Given the description of an element on the screen output the (x, y) to click on. 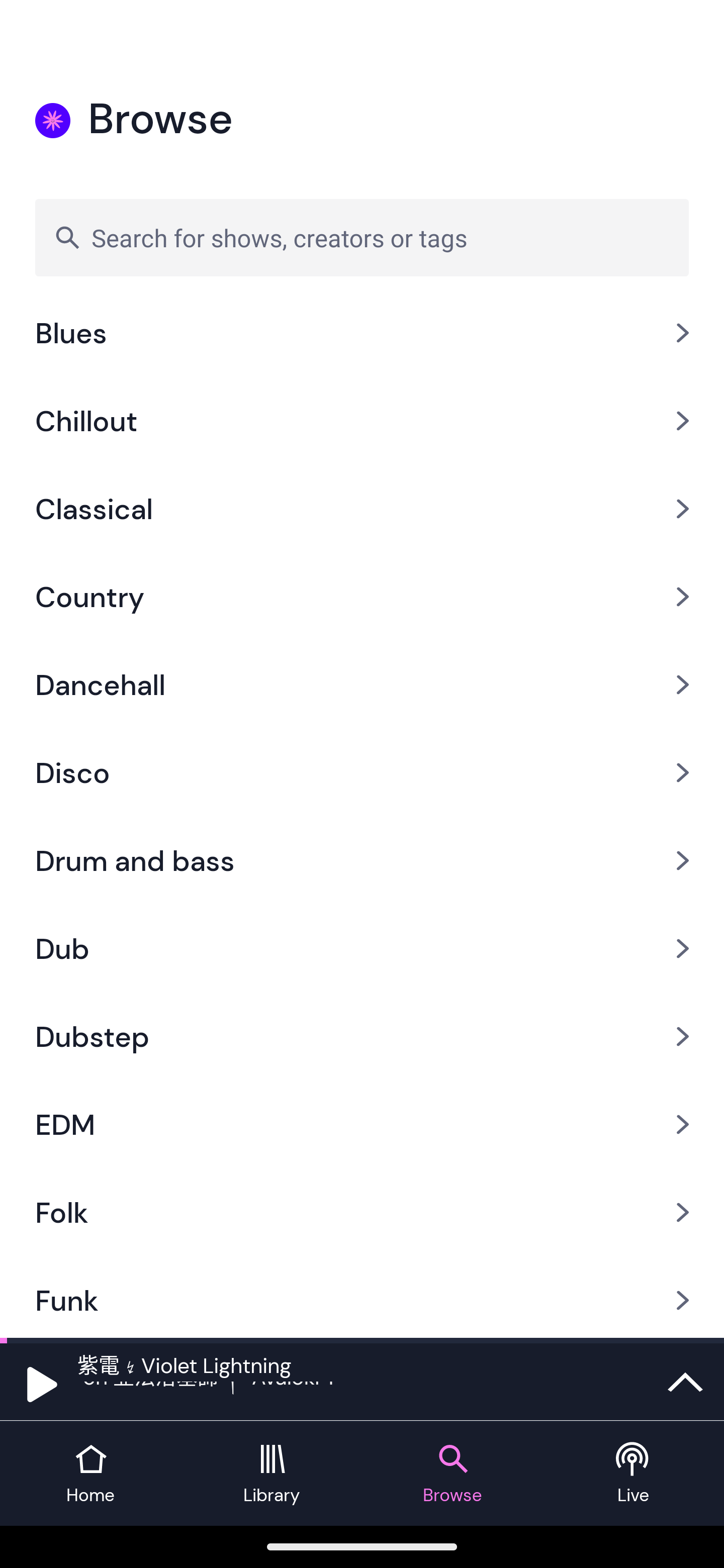
Search for shows, creators or tags (361, 237)
Blues (361, 339)
Chillout (361, 420)
Classical (361, 508)
Country (361, 597)
Dancehall (361, 685)
Disco (361, 772)
Drum and bass (361, 860)
Dub (361, 948)
Dubstep (361, 1036)
EDM (361, 1124)
Folk (361, 1211)
Funk (361, 1296)
Home tab Home (90, 1473)
Library tab Library (271, 1473)
Browse tab Browse (452, 1473)
Live tab Live (633, 1473)
